Given the description of an element on the screen output the (x, y) to click on. 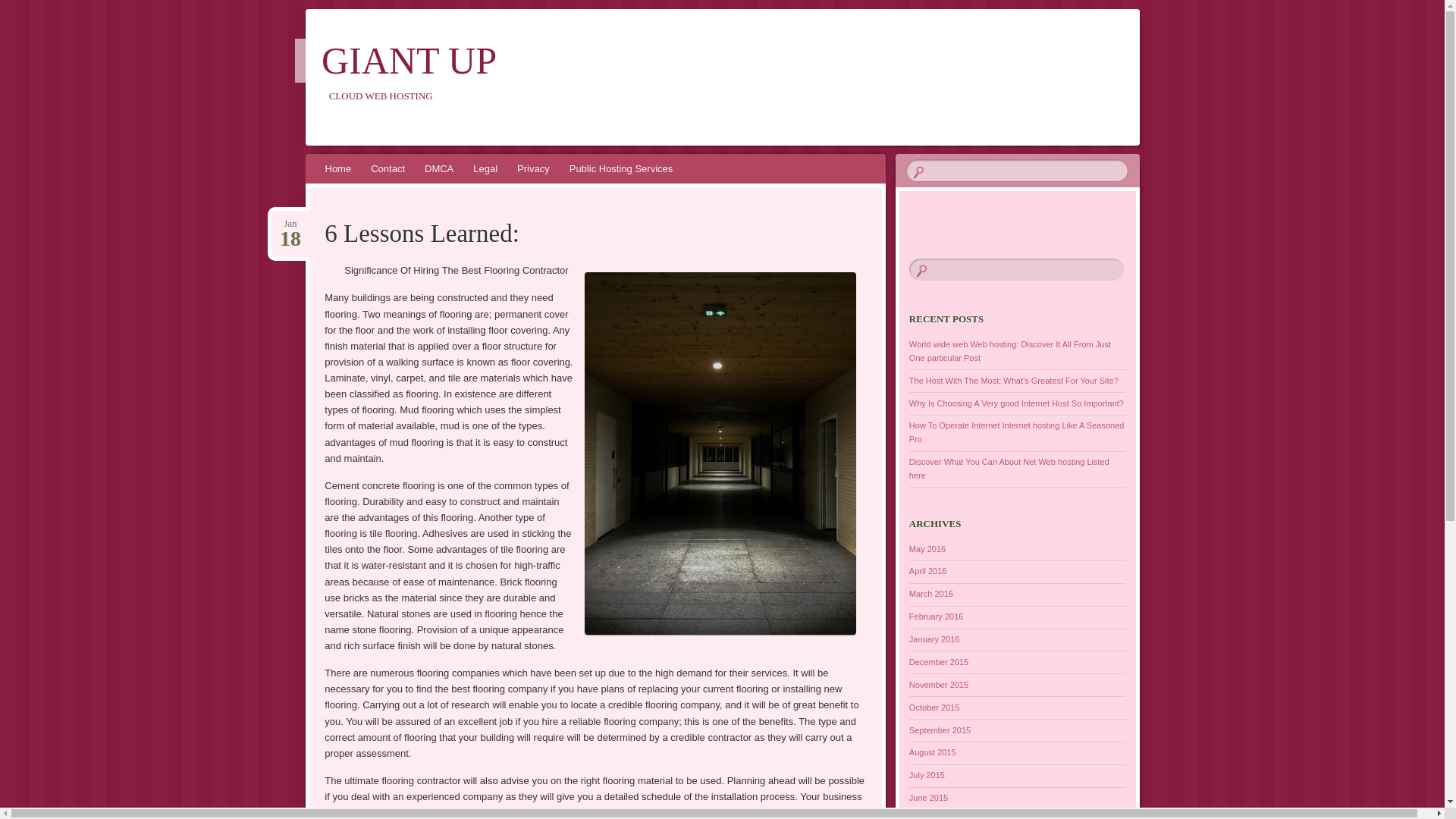
Public Hosting Services (620, 168)
January 18, 2020 (289, 223)
October 2015 (933, 706)
Search (21, 7)
Why Is Choosing A Very good Internet Host So Important? (1016, 402)
Giant Up (408, 60)
Home (338, 168)
December 2015 (938, 661)
January 2016 (933, 638)
July 2015 (926, 774)
